Given the description of an element on the screen output the (x, y) to click on. 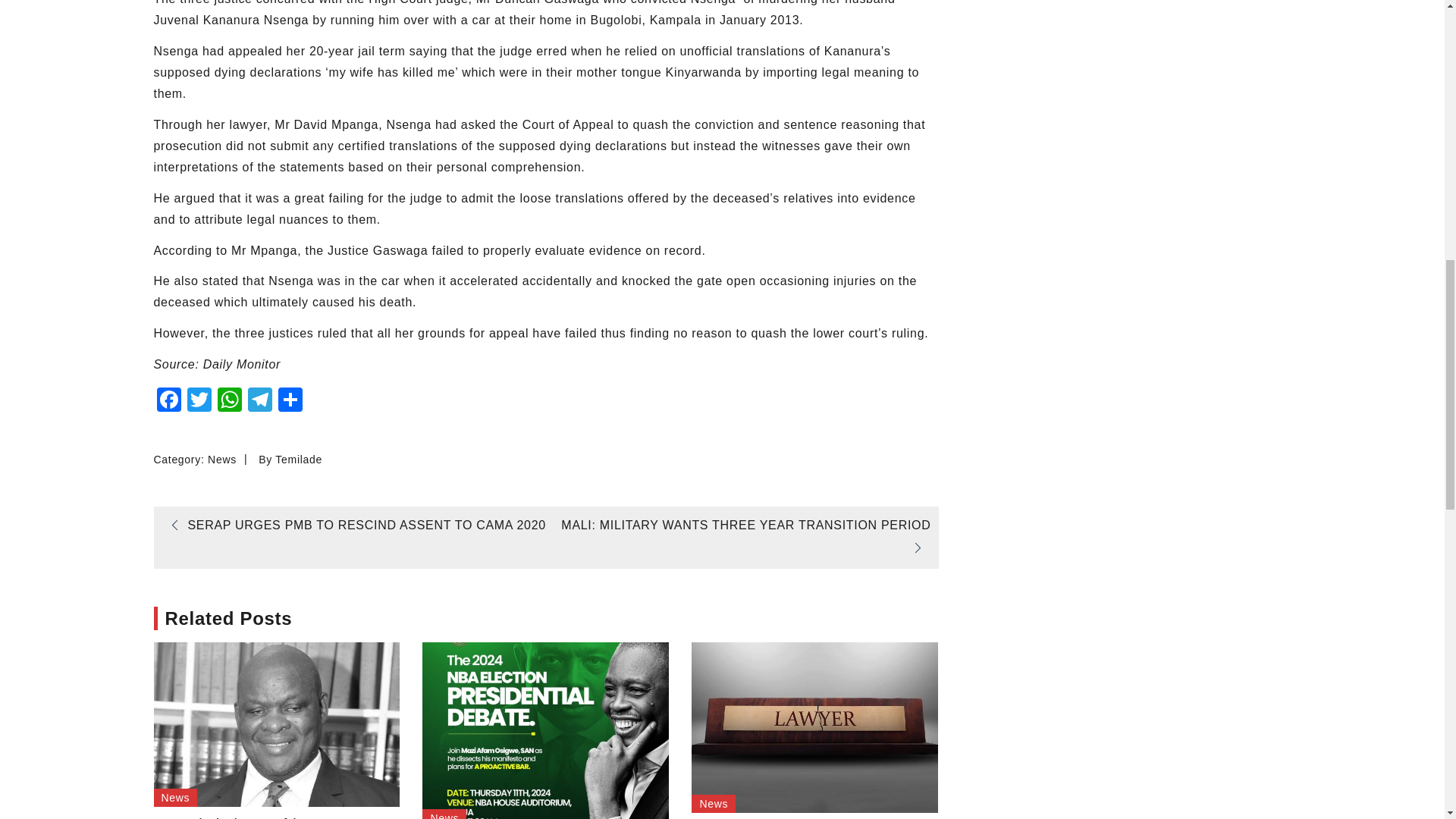
Facebook (167, 401)
Twitter (198, 401)
Facebook (167, 401)
Twitter (198, 401)
WhatsApp (229, 401)
WhatsApp (229, 401)
Telegram (259, 401)
Telegram (259, 401)
